Given the description of an element on the screen output the (x, y) to click on. 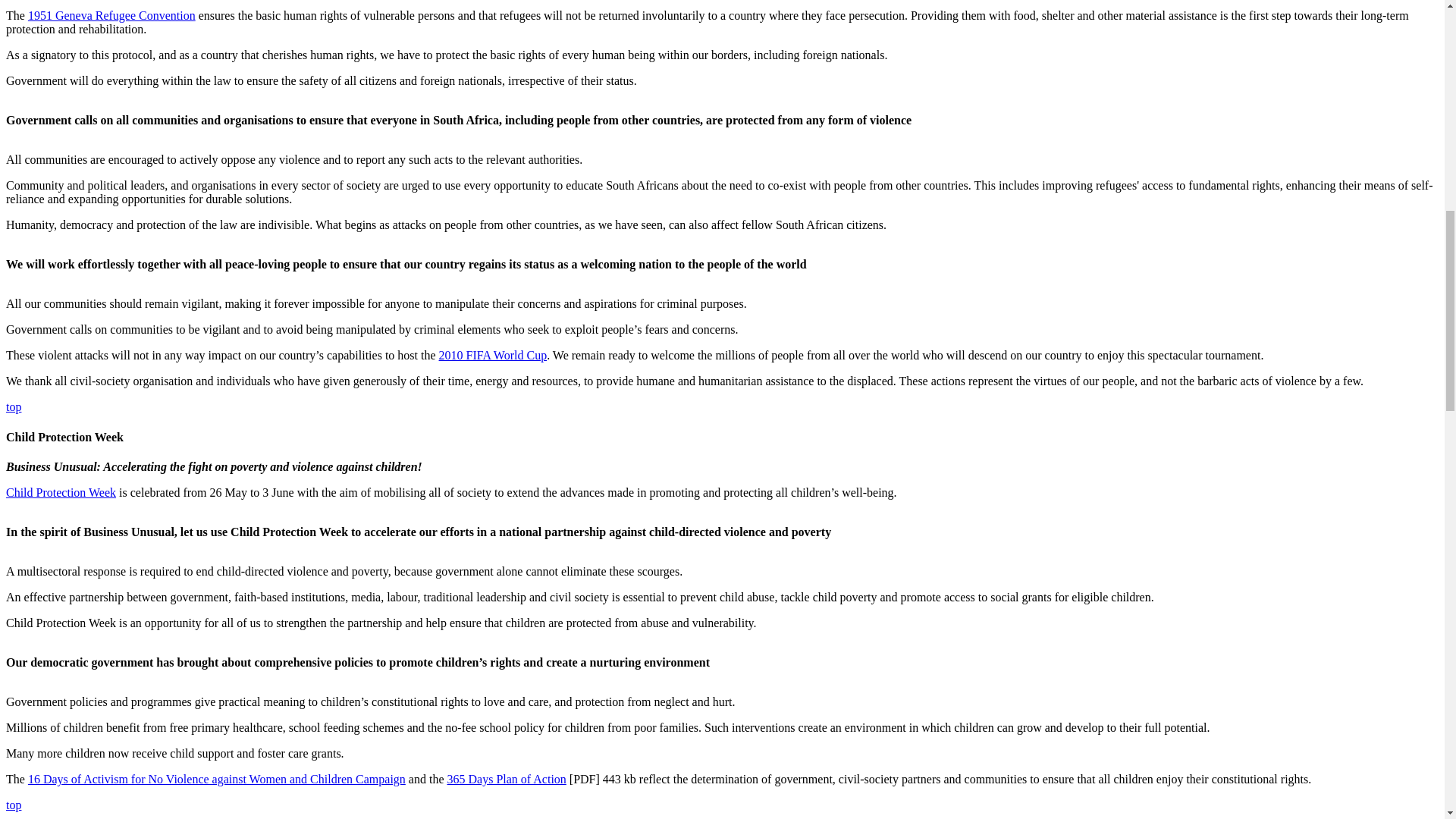
top (13, 406)
top (13, 804)
Ouside link - Opens in new window (506, 779)
2010 FIFA World Cup (493, 354)
Child Protection Week (60, 492)
365 Days Plan of Action (506, 779)
Ouside link - Opens in new window (493, 354)
1951 Geneva Refugee Convention (111, 15)
Ouside link - Opens in new window (60, 492)
Ouside link - Opens in new window (111, 15)
Ouside link - Opens in new window (216, 779)
